Given the description of an element on the screen output the (x, y) to click on. 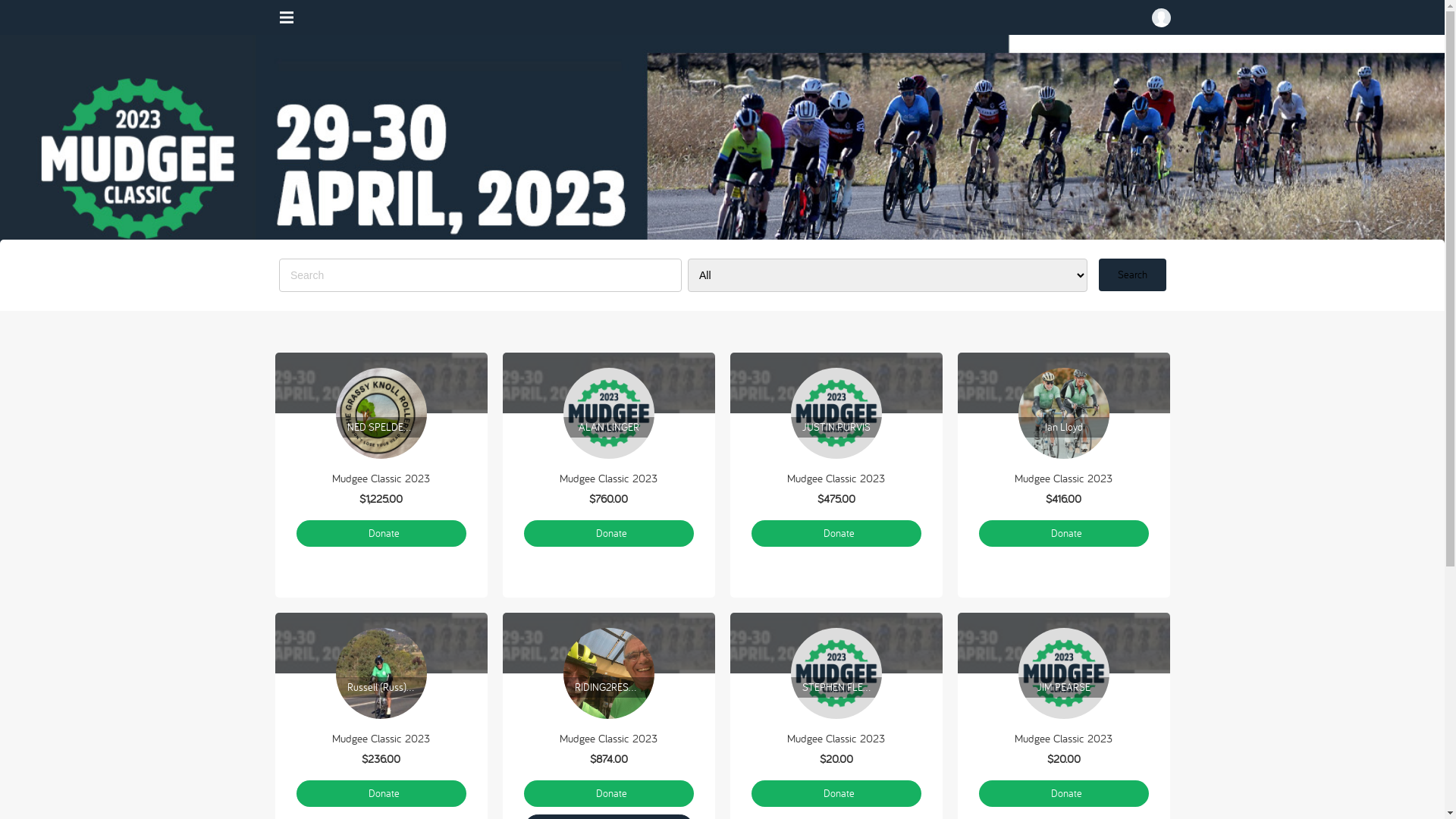
Russell (Russ) JAMES Element type: text (380, 672)
Ian Lloyd Element type: text (1062, 412)
Donate Element type: text (835, 533)
JIM PEARSE Element type: text (1062, 672)
Donate Element type: text (608, 533)
STEPHEN FLEWELLEN Element type: text (835, 672)
JUSTIN PURVIS Element type: text (835, 412)
RIDING2RESOURCE Element type: text (607, 672)
Donate Element type: text (835, 793)
Donate Element type: text (380, 793)
Donate Element type: text (380, 533)
ALAN LINGER Element type: text (607, 412)
Donate Element type: text (608, 793)
Search Element type: text (1131, 274)
Donate Element type: text (1063, 533)
Donate Element type: text (1063, 793)
NED SPELDEWINDE Element type: text (380, 412)
